Given the description of an element on the screen output the (x, y) to click on. 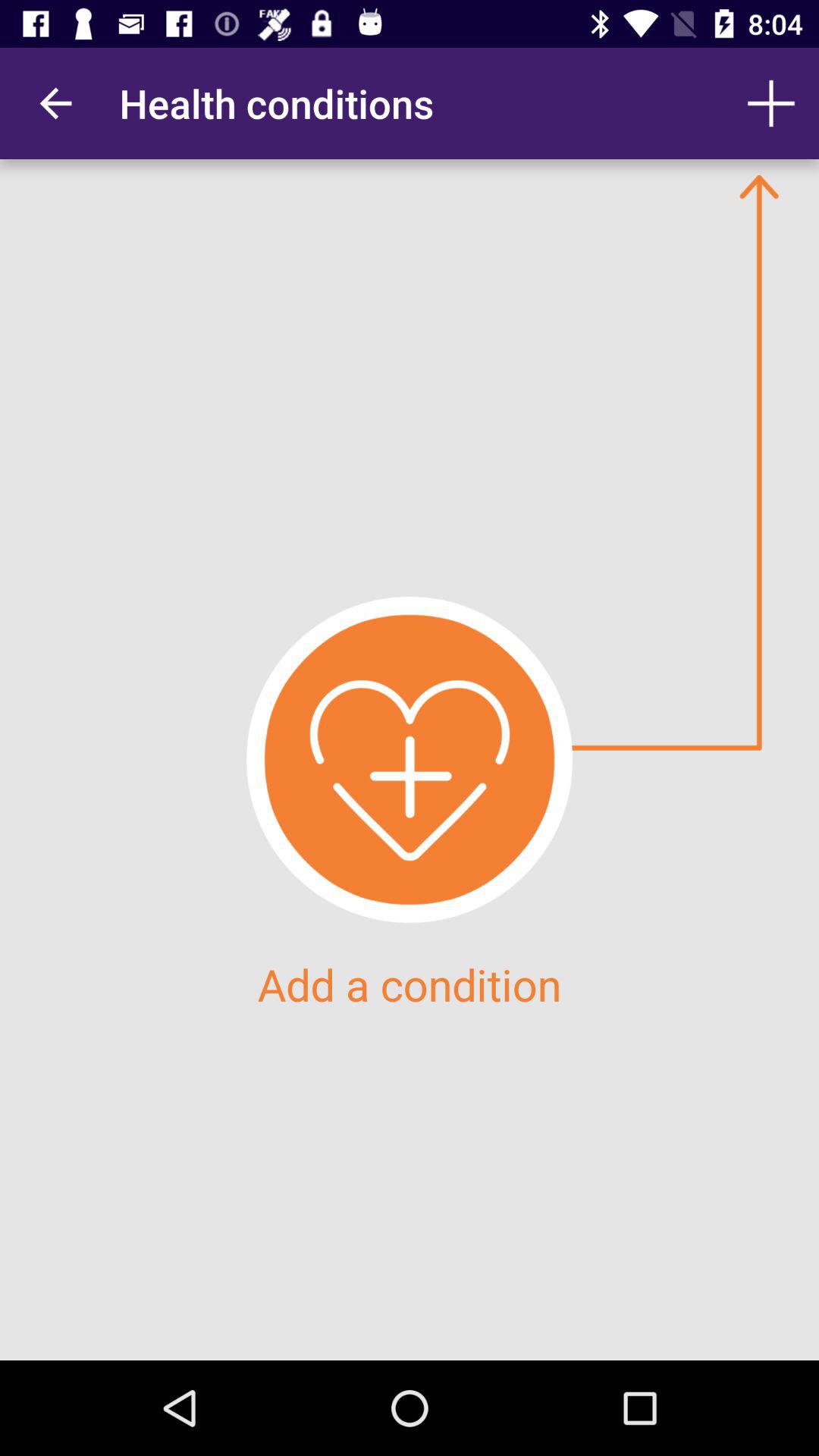
turn off app to the left of the health conditions item (55, 103)
